Given the description of an element on the screen output the (x, y) to click on. 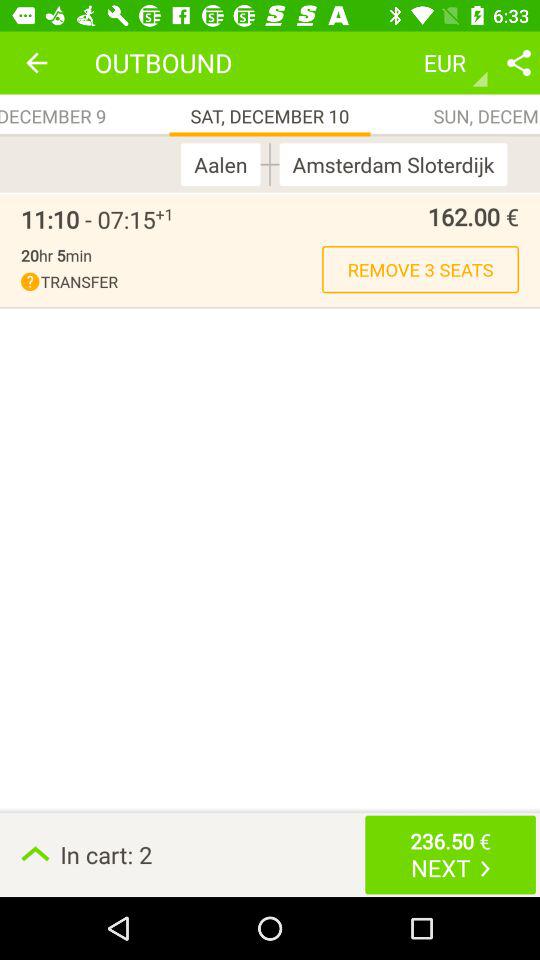
turn off icon to the left of outbound icon (36, 62)
